Given the description of an element on the screen output the (x, y) to click on. 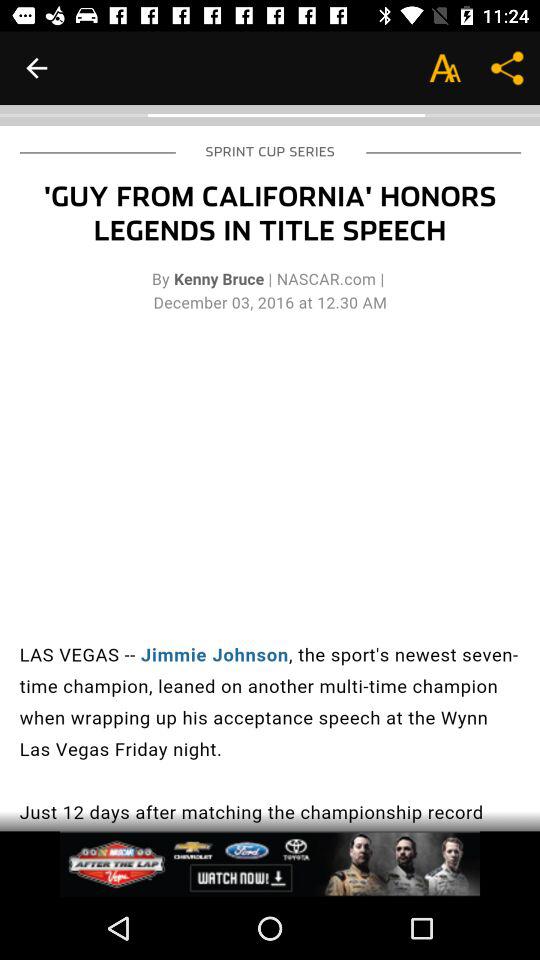
advertisement (270, 864)
